Given the description of an element on the screen output the (x, y) to click on. 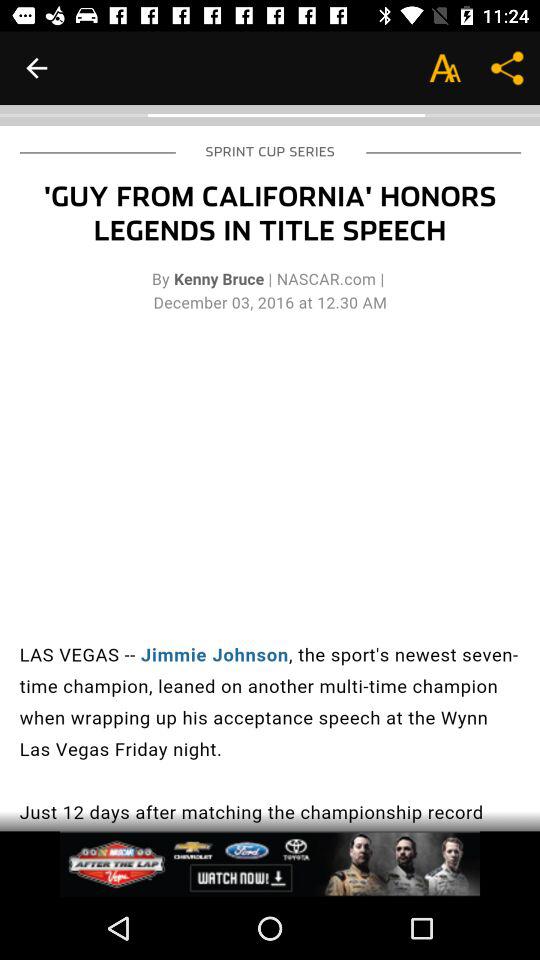
advertisement (270, 864)
